Given the description of an element on the screen output the (x, y) to click on. 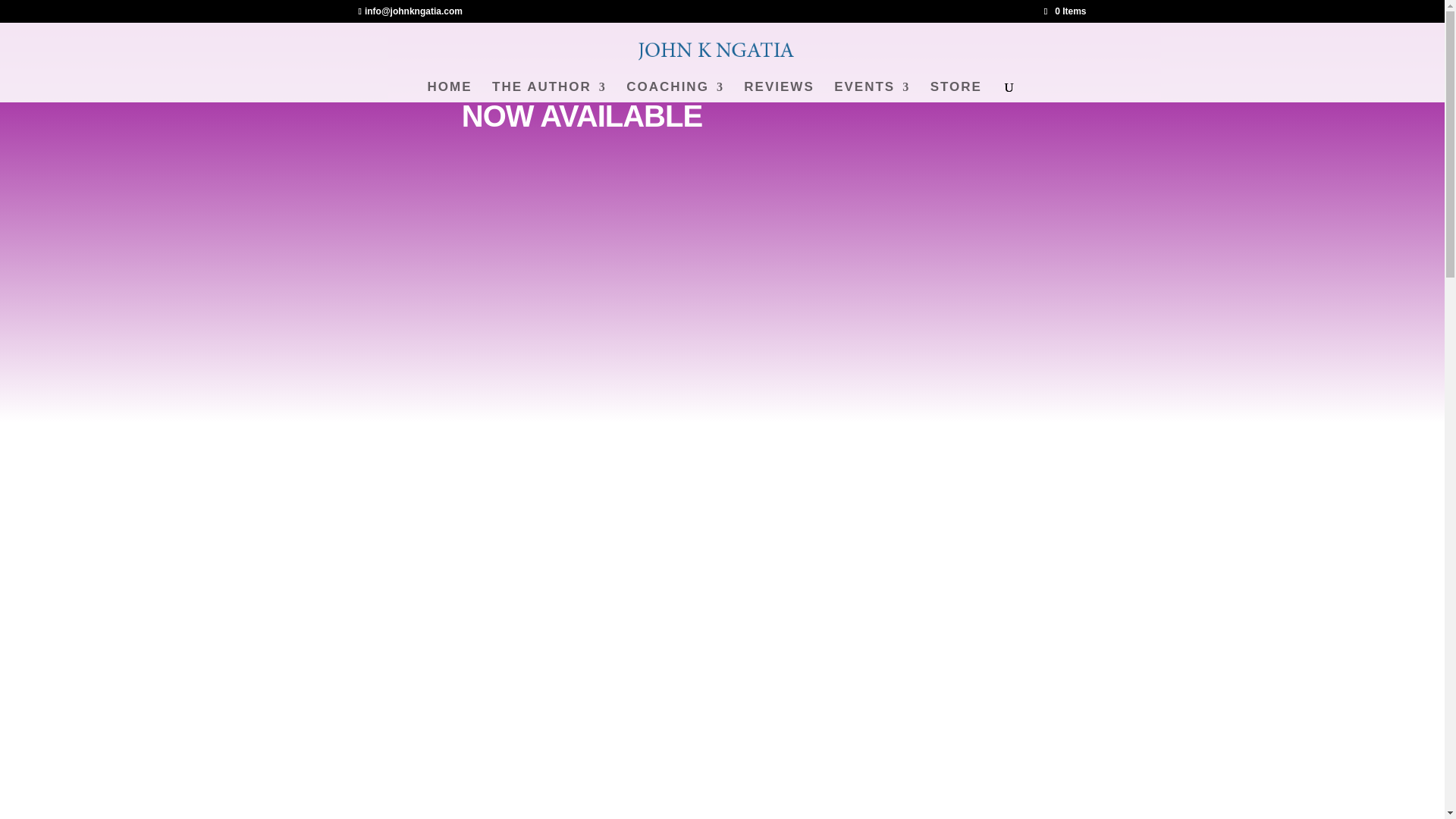
STORE (955, 91)
HOME (449, 91)
REVIEWS (778, 91)
THE AUTHOR (549, 91)
EVENTS (872, 91)
0 Items (1064, 10)
COACHING (674, 91)
